Given the description of an element on the screen output the (x, y) to click on. 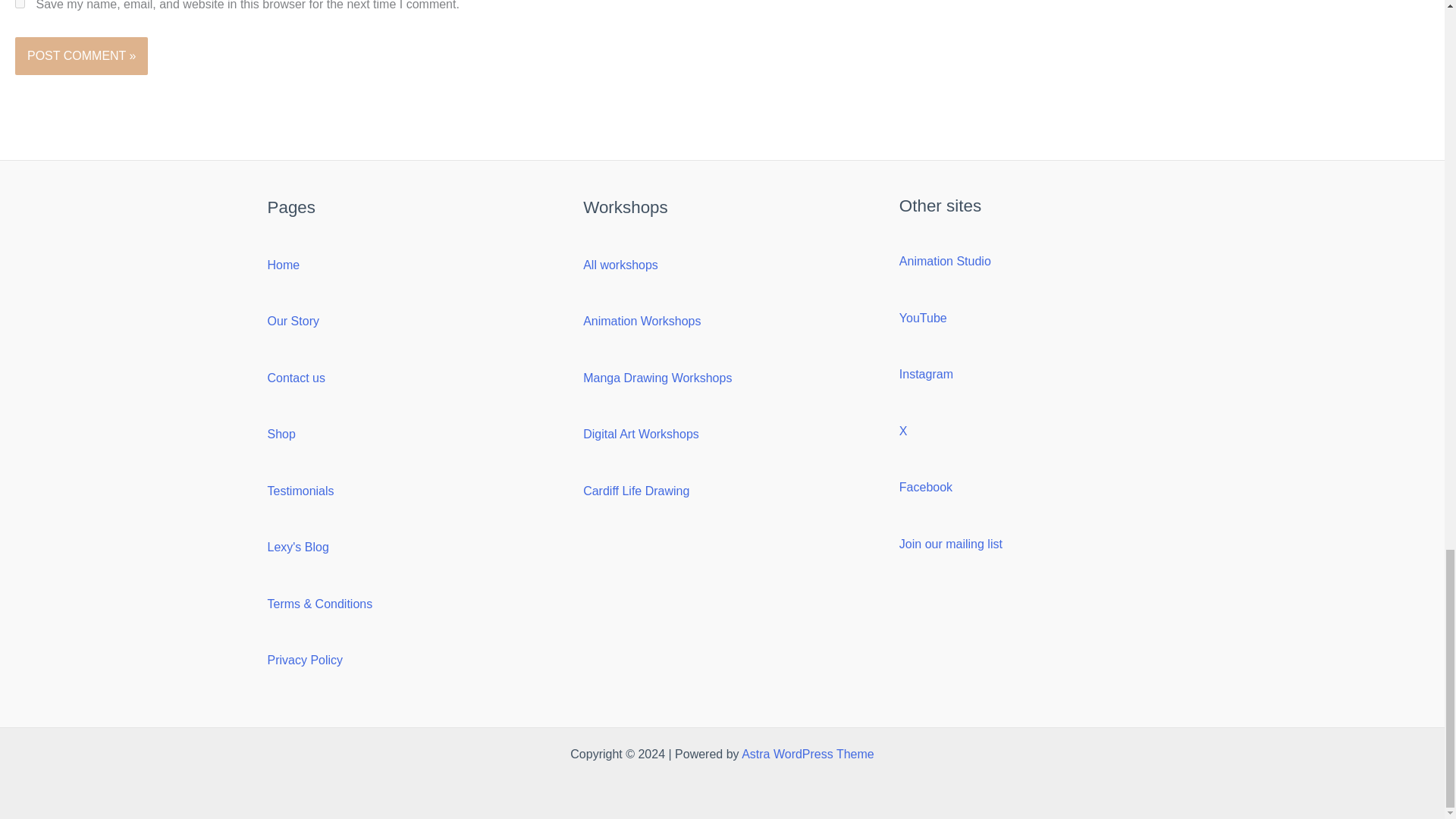
yes (19, 4)
